Given the description of an element on the screen output the (x, y) to click on. 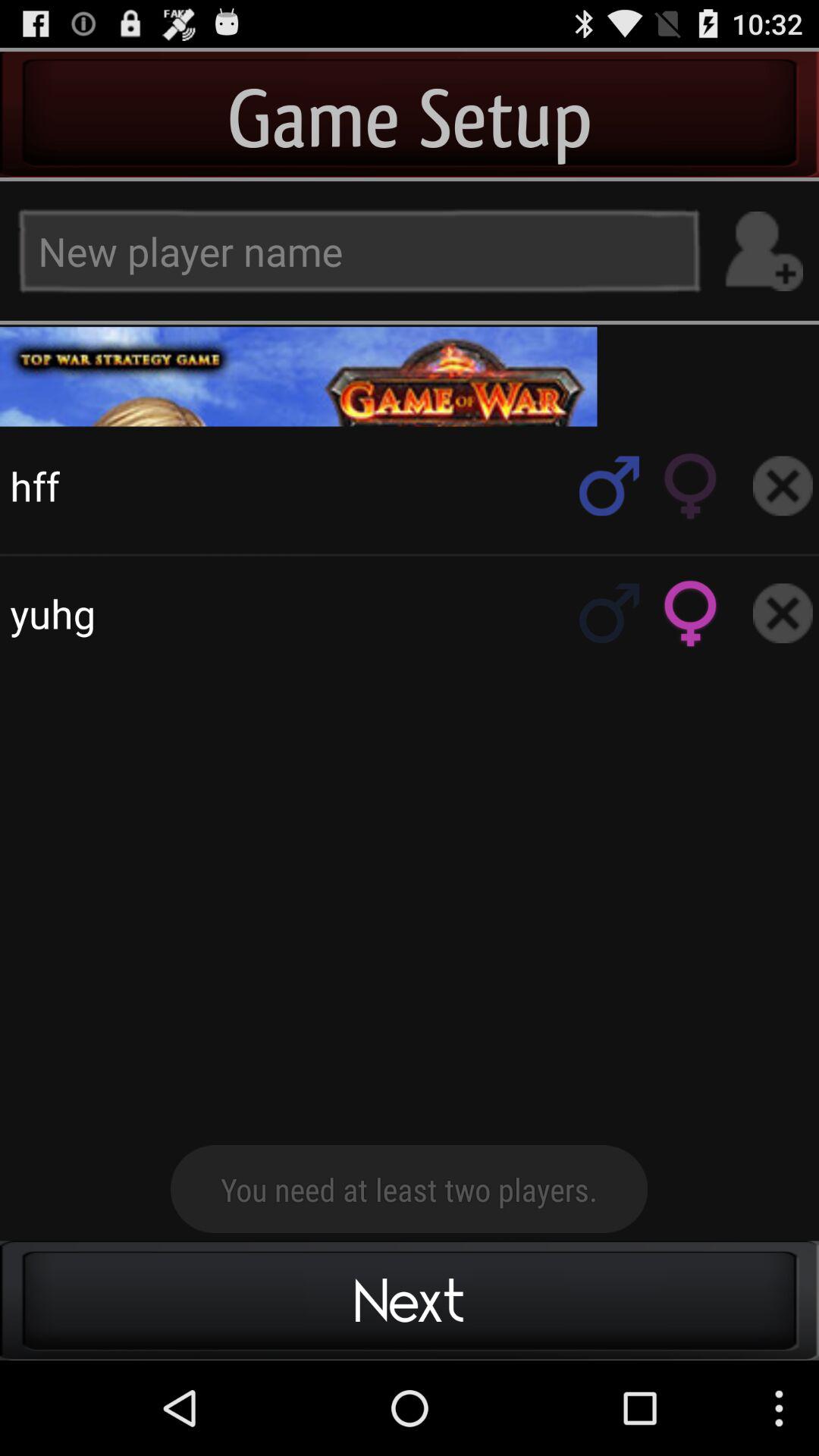
toggle the add option (763, 251)
